Given the description of an element on the screen output the (x, y) to click on. 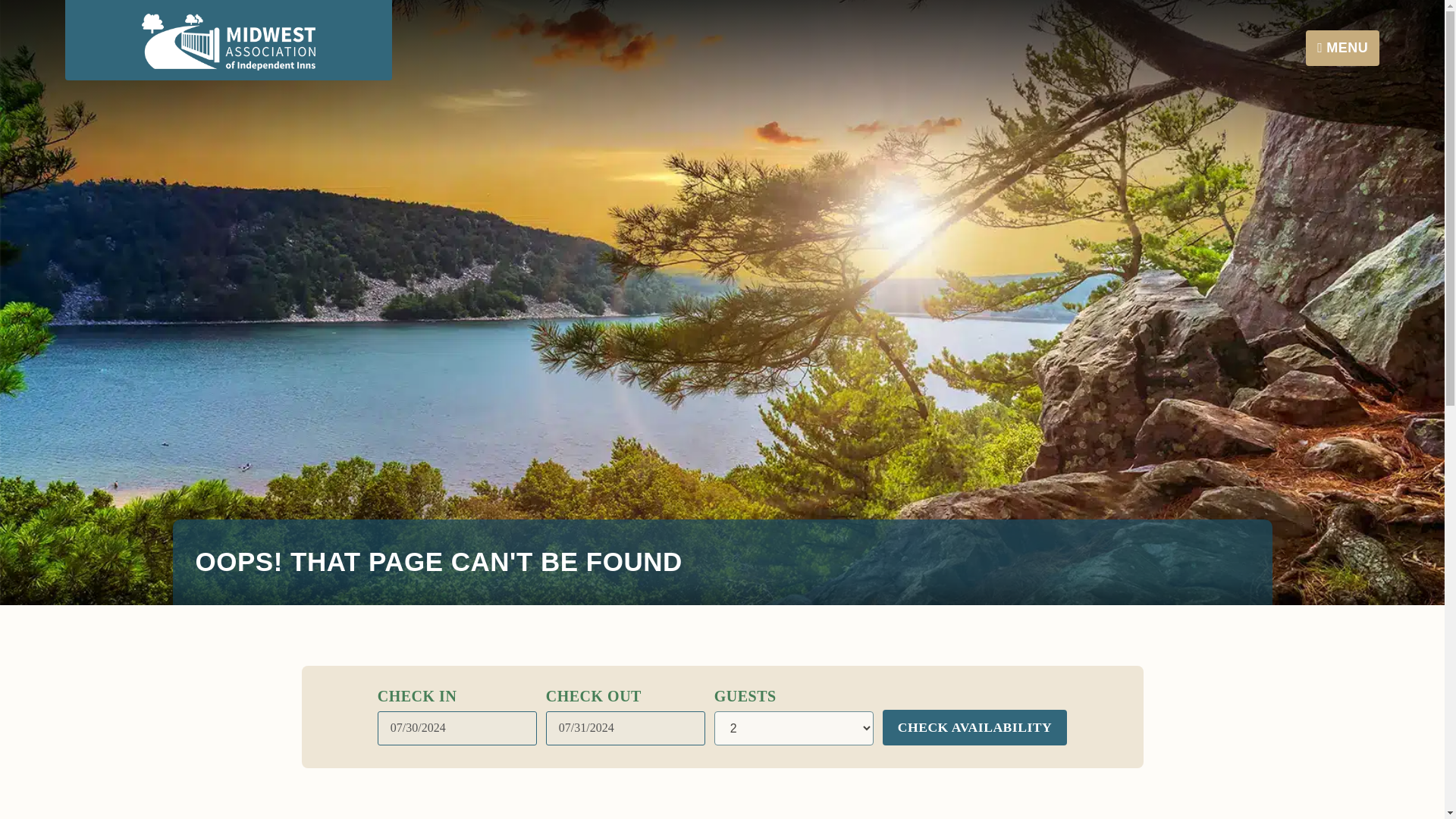
MENU (1342, 48)
